Given the description of an element on the screen output the (x, y) to click on. 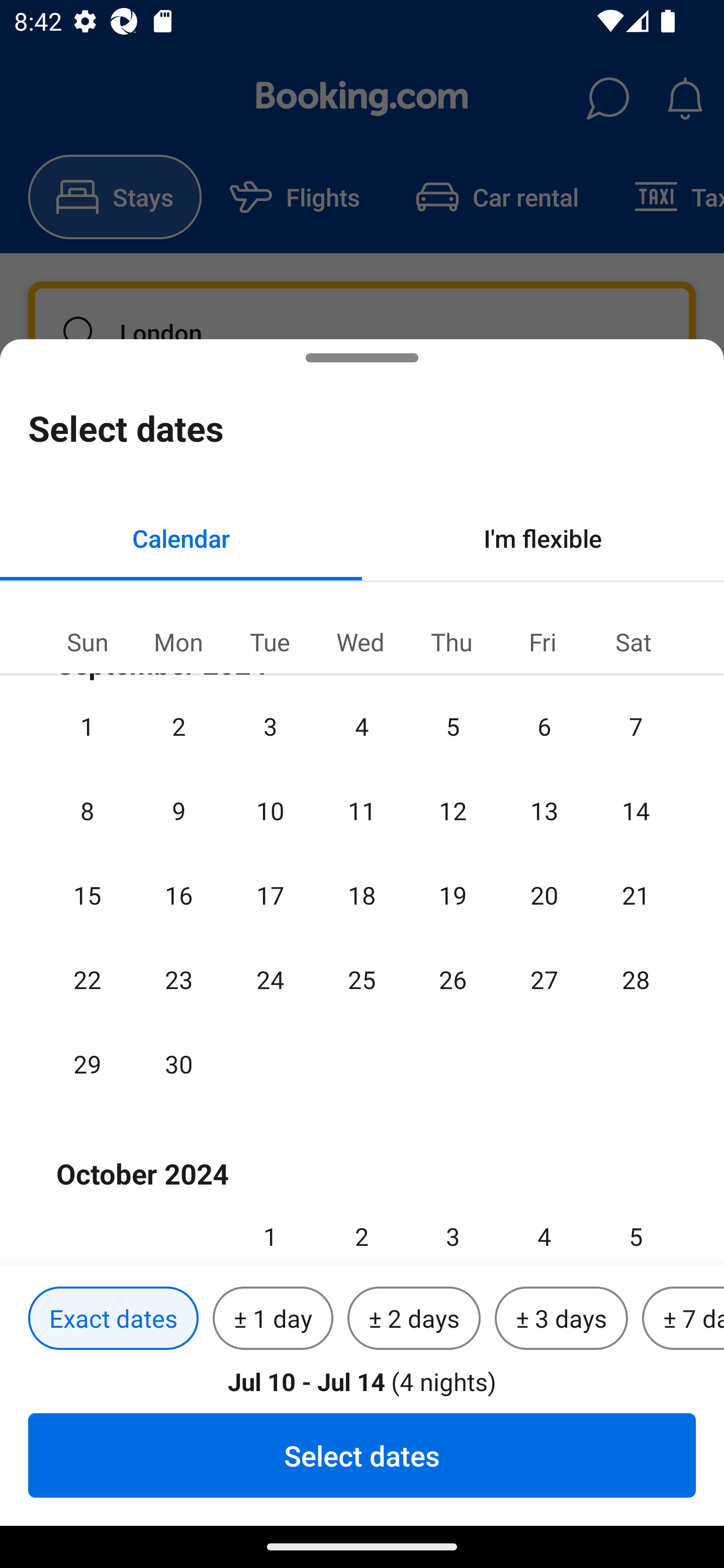
I'm flexible (543, 537)
Exact dates (113, 1318)
± 1 day (272, 1318)
± 2 days (413, 1318)
± 3 days (560, 1318)
± 7 days (683, 1318)
Select dates (361, 1454)
